Given the description of an element on the screen output the (x, y) to click on. 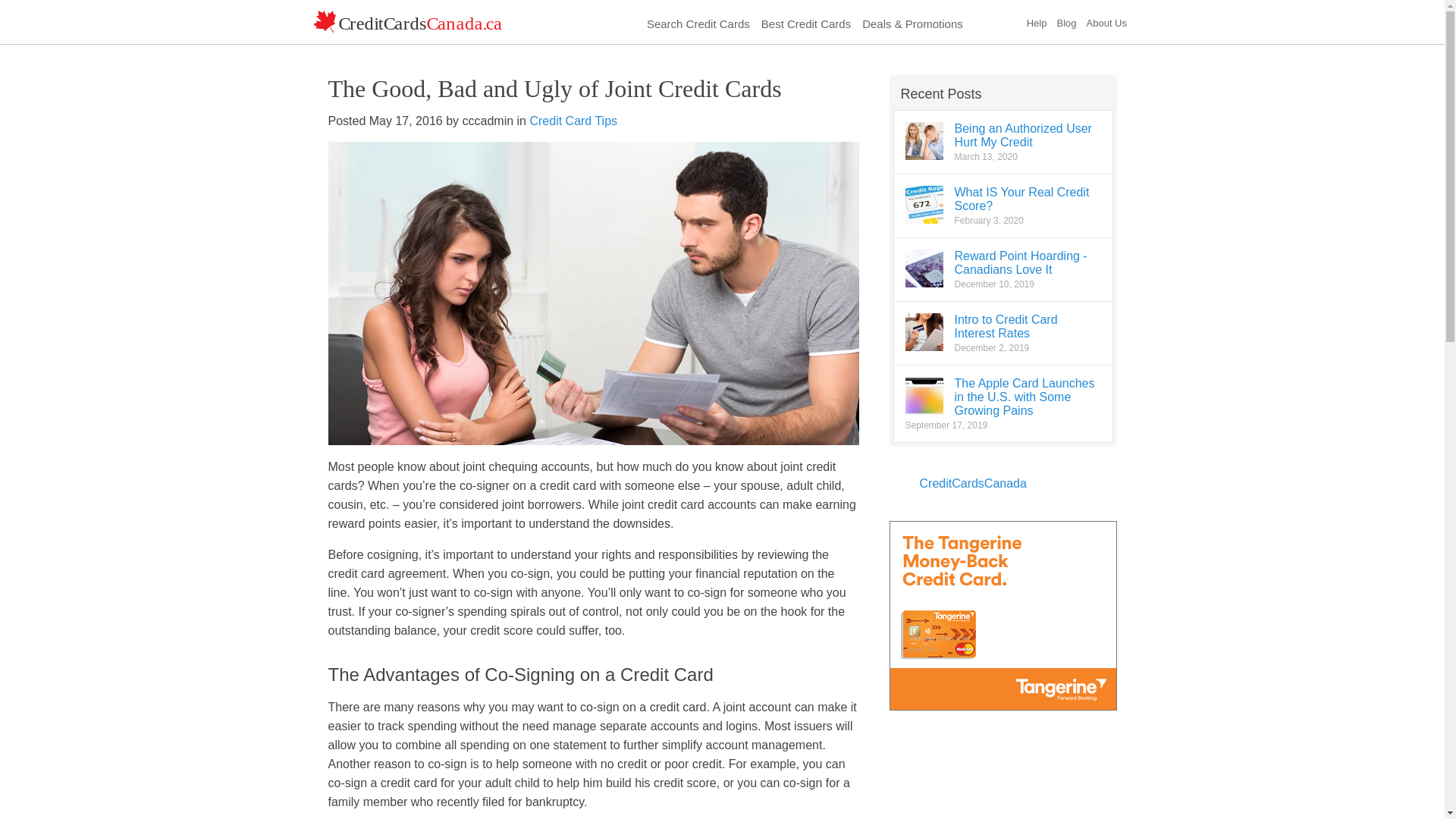
Best Credit Cards (805, 21)
What IS Your Real Credit Score? (1021, 198)
About Us (1106, 21)
CreditCardsCanada (972, 482)
Reward Point Hoarding - Canadians Love It (1019, 262)
Help (1036, 21)
The Apple Card Launches in the U.S. with Some Growing Pains (1023, 396)
Advertisement (1002, 780)
Being an Authorized User Hurt My Credit (1021, 135)
Blog (1066, 21)
Skip to content (353, 6)
Intro to Credit Card Interest Rates (1005, 325)
Credit Card Tips (573, 120)
Search Credit Cards (697, 21)
